Given the description of an element on the screen output the (x, y) to click on. 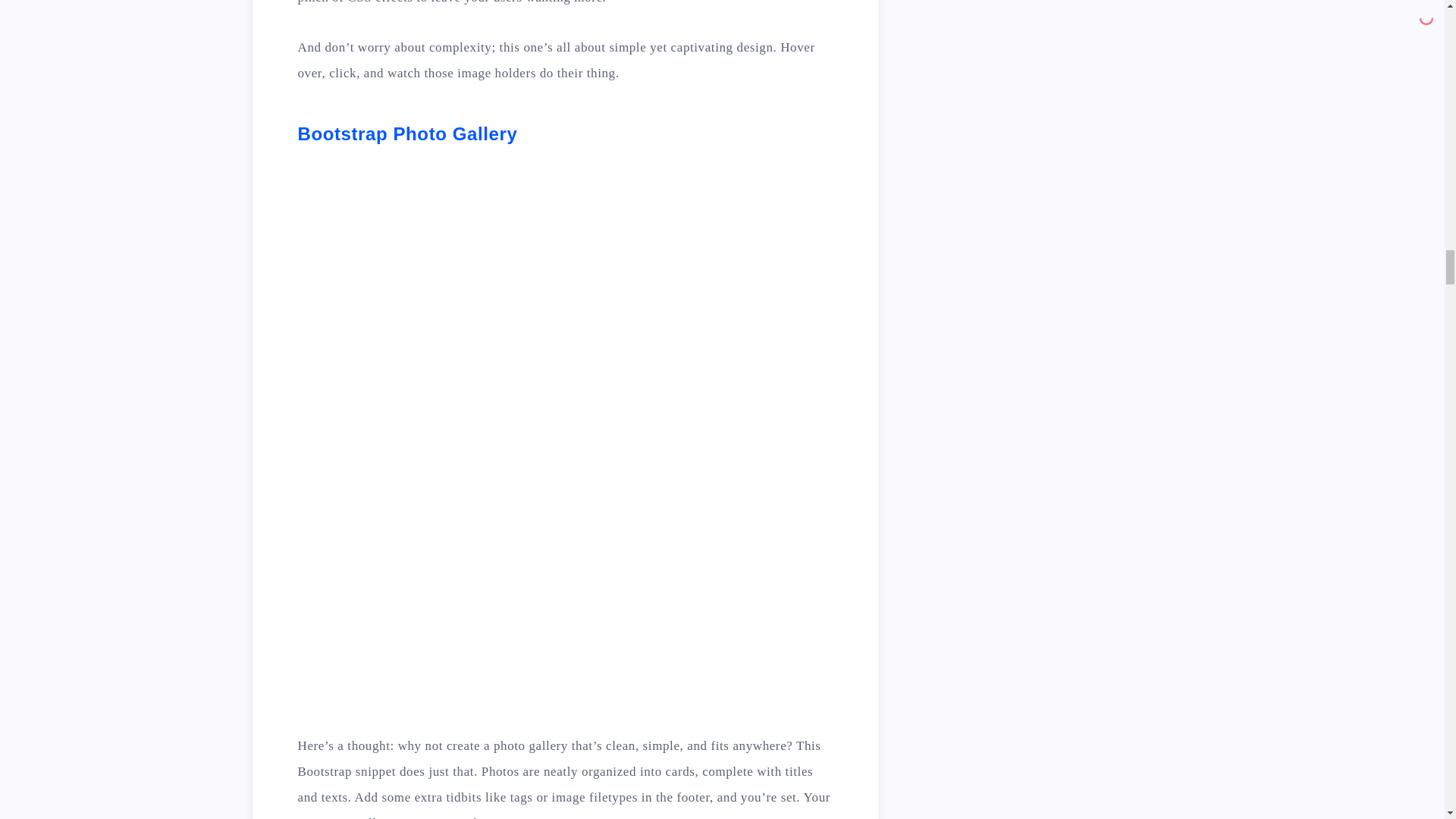
Bootstrap Photo Gallery (406, 133)
